Given the description of an element on the screen output the (x, y) to click on. 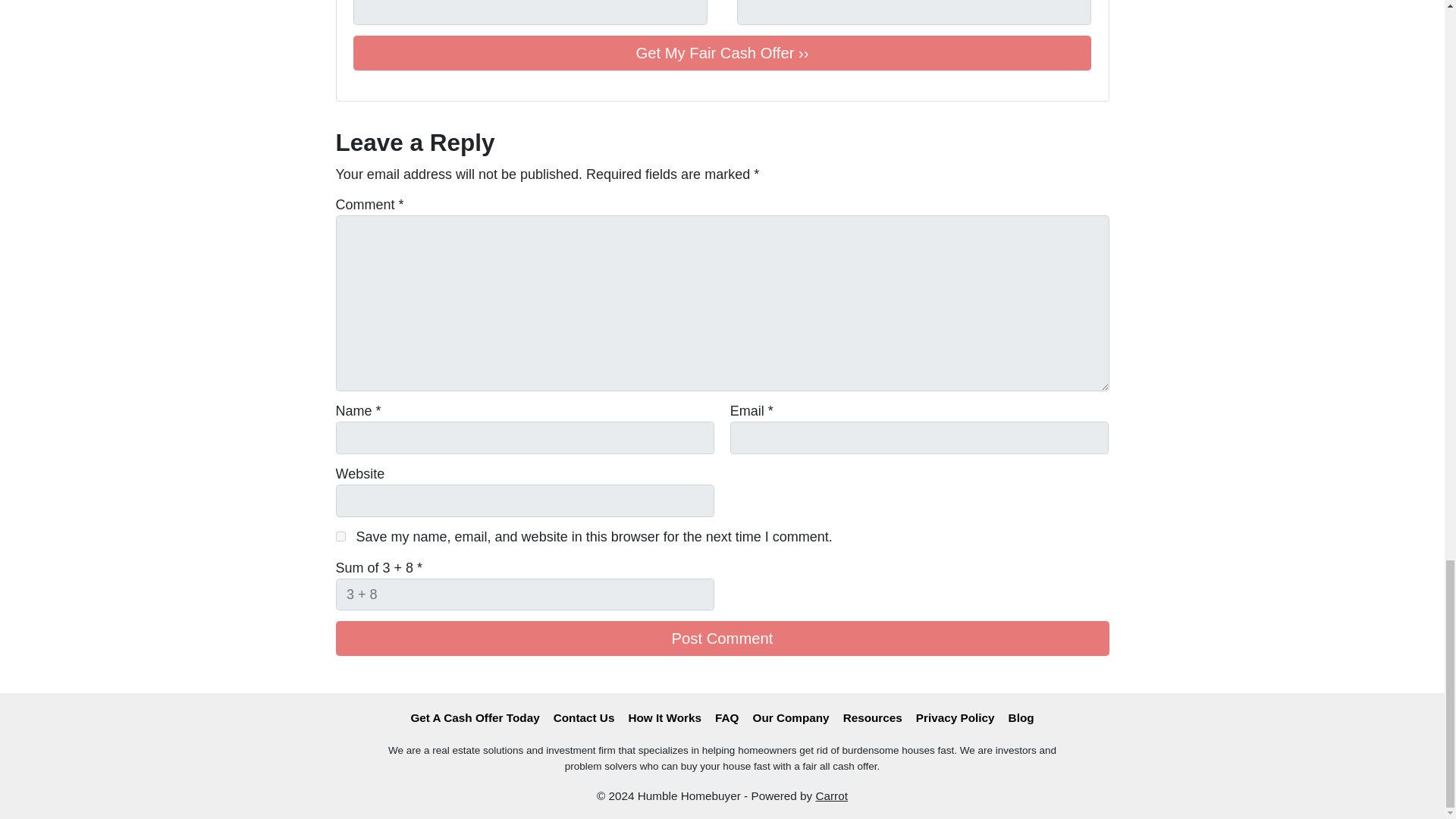
Get A Cash Offer Today (474, 717)
Privacy Policy (954, 717)
Post Comment (721, 638)
yes (339, 536)
How It Works (664, 717)
Our Company (790, 717)
Post Comment (721, 638)
Contact Us (584, 717)
FAQ (726, 717)
Resources (871, 717)
